Given the description of an element on the screen output the (x, y) to click on. 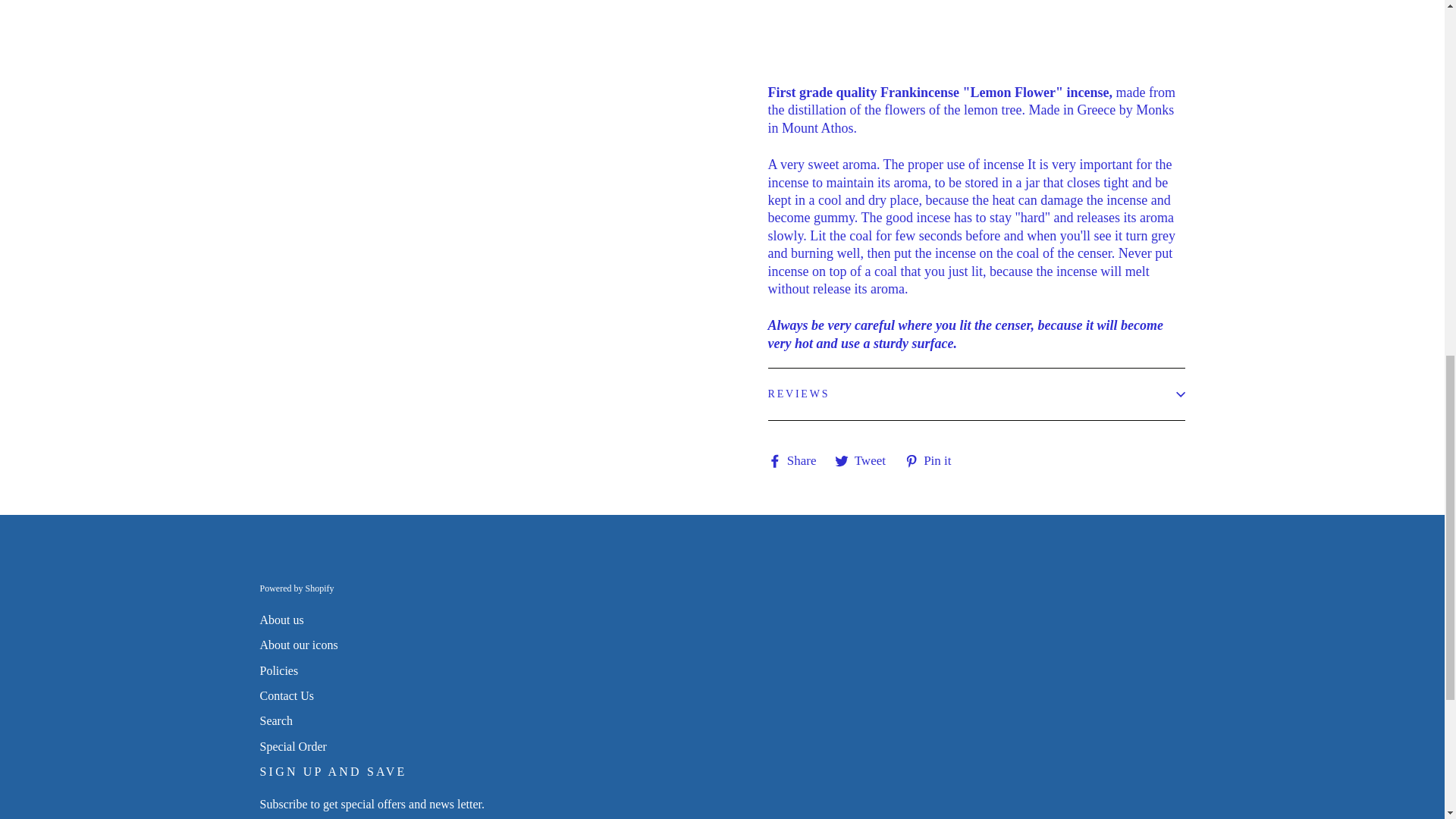
Pin on Pinterest (933, 459)
Tweet on Twitter (865, 459)
Share on Facebook (797, 459)
